Given the description of an element on the screen output the (x, y) to click on. 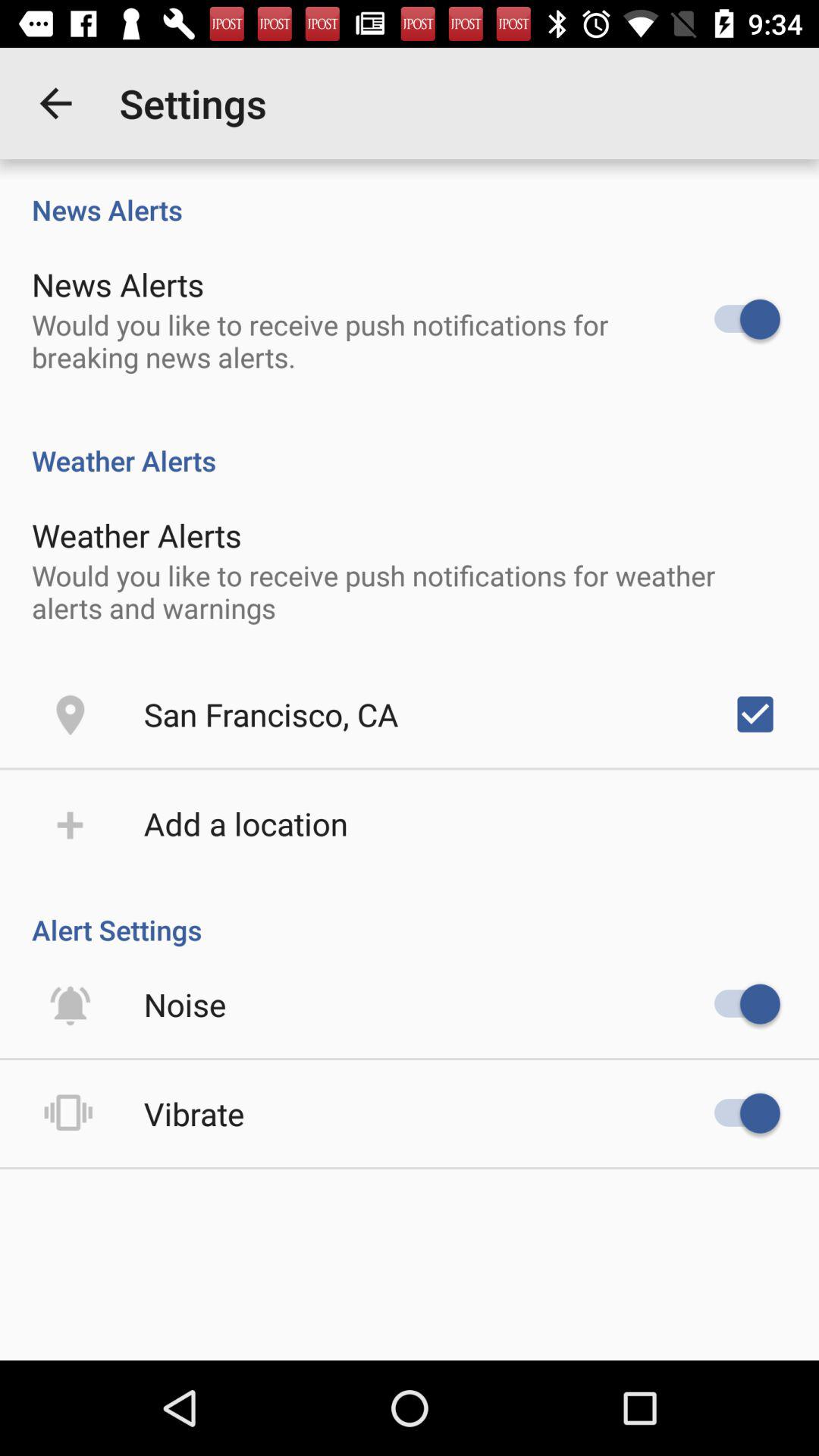
scroll to noise item (184, 1004)
